Given the description of an element on the screen output the (x, y) to click on. 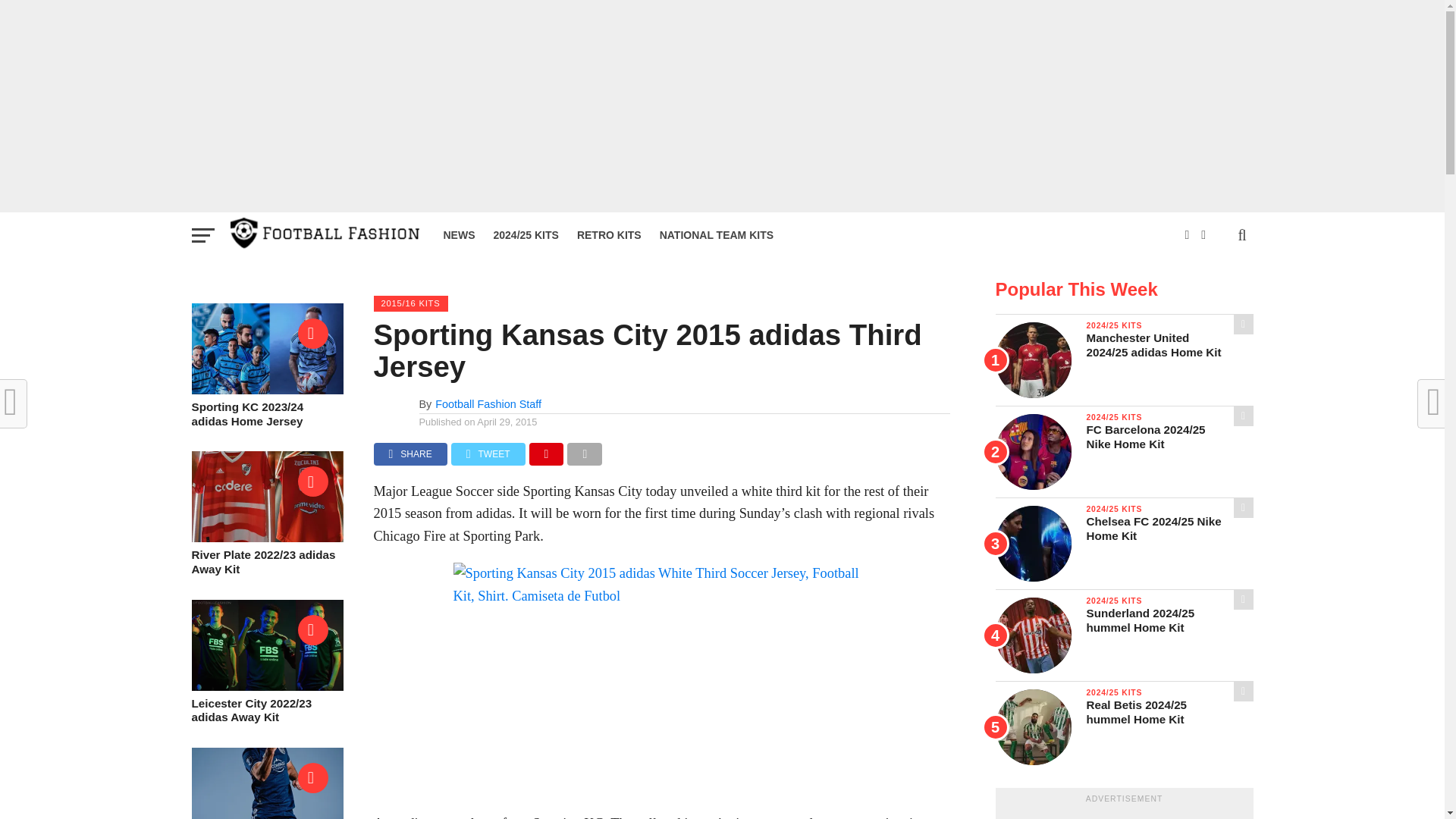
Posts by Football Fashion Staff (488, 404)
